Given the description of an element on the screen output the (x, y) to click on. 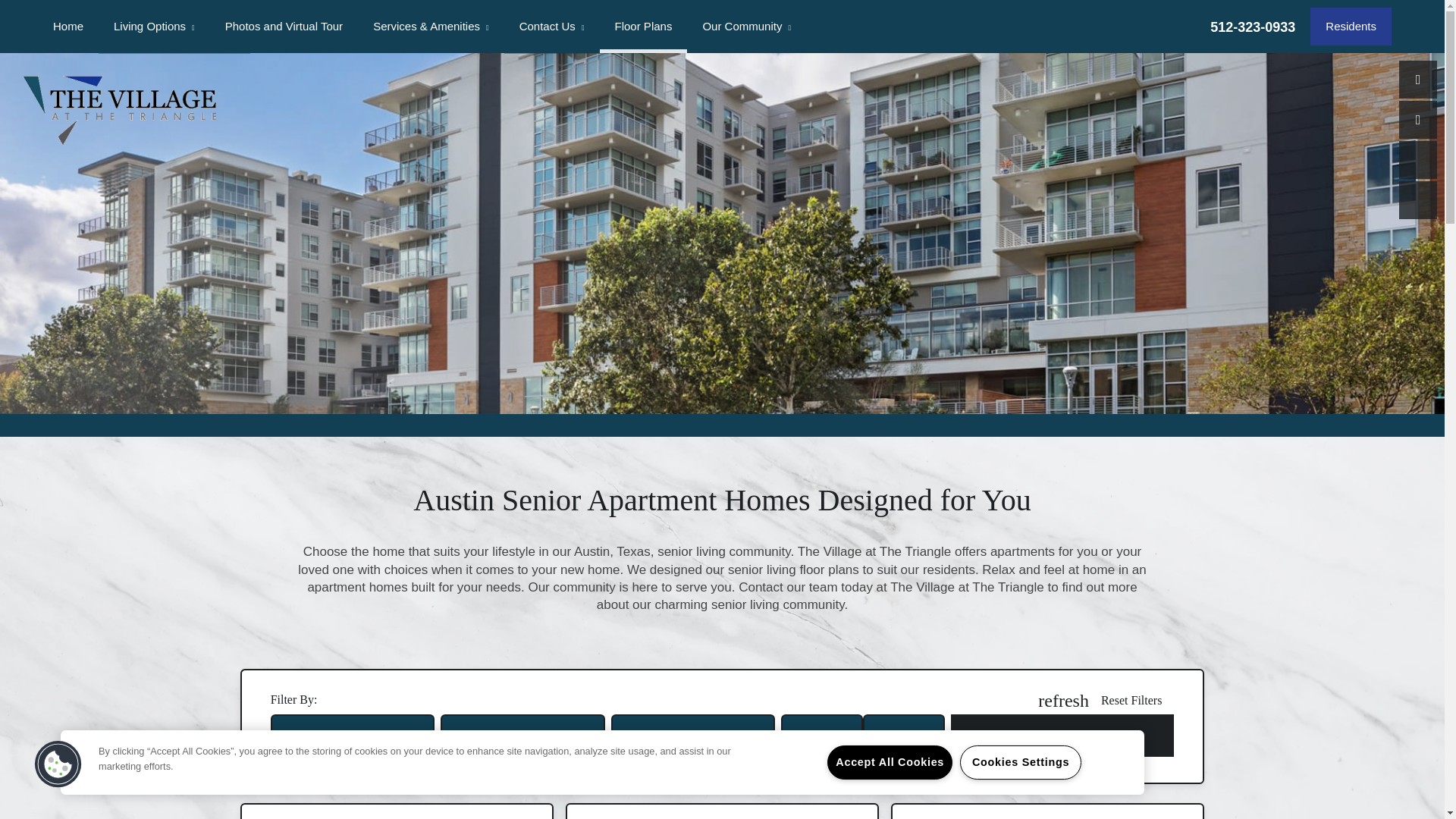
Min Price (831, 744)
Max Price (914, 744)
Blog (762, 29)
Phone Number (1418, 79)
Assisted Living (174, 29)
Dining (433, 29)
Contact Us (551, 26)
Residents (1350, 26)
Email (1418, 119)
Scroll Up (1418, 159)
